Given the description of an element on the screen output the (x, y) to click on. 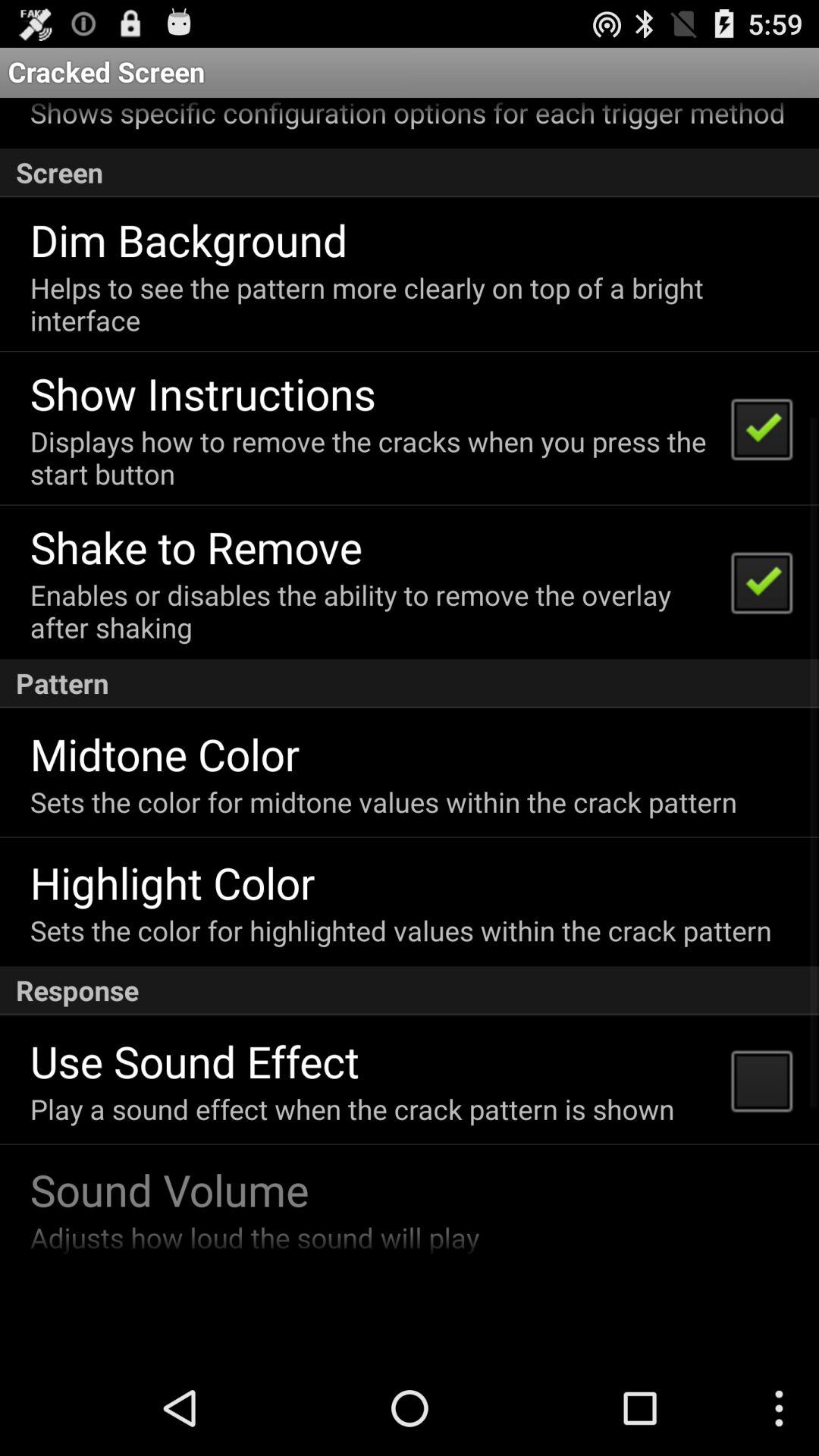
scroll until displays how to app (370, 457)
